Given the description of an element on the screen output the (x, y) to click on. 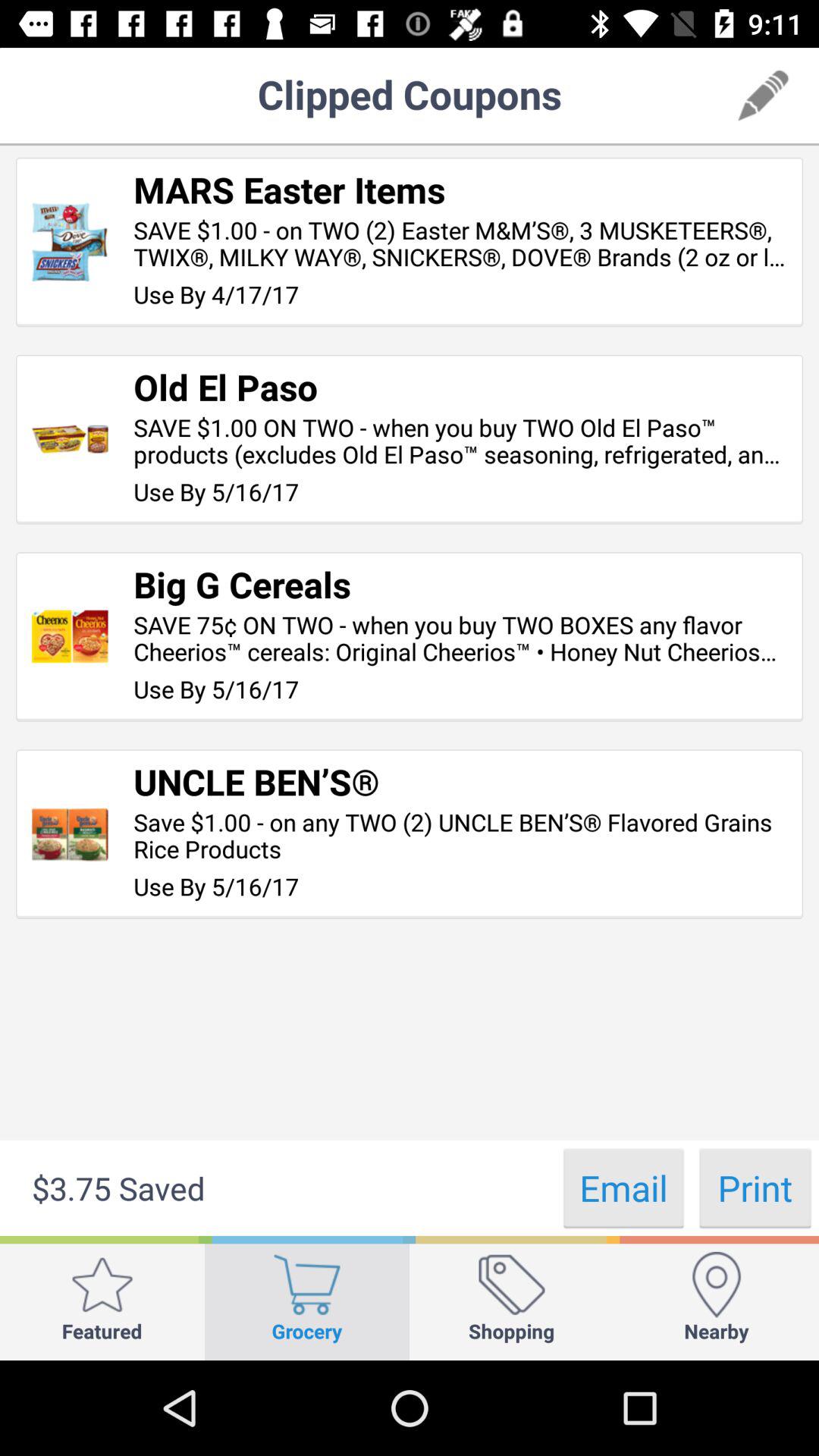
open print icon (755, 1187)
